Given the description of an element on the screen output the (x, y) to click on. 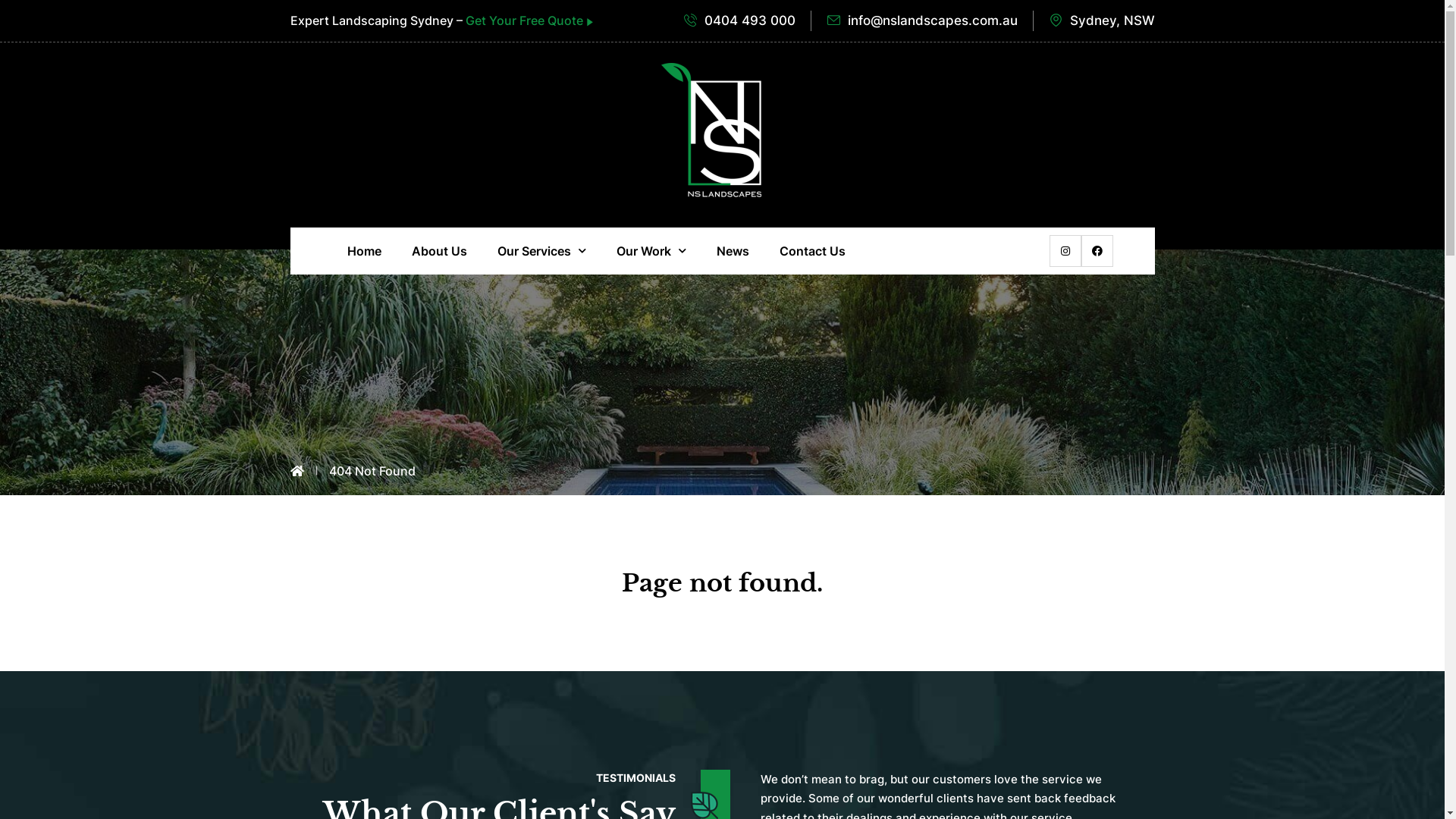
Get Your Free Quote Element type: text (529, 20)
logo-white Element type: hover (711, 130)
Home Element type: text (364, 250)
About Us Element type: text (438, 250)
News Element type: text (731, 250)
Our Work Element type: text (650, 250)
Contact Us Element type: text (812, 250)
  info@nslandscapes.com.au Element type: text (921, 20)
Our Services Element type: text (541, 250)
  0404 493 000 Element type: text (739, 20)
